Given the description of an element on the screen output the (x, y) to click on. 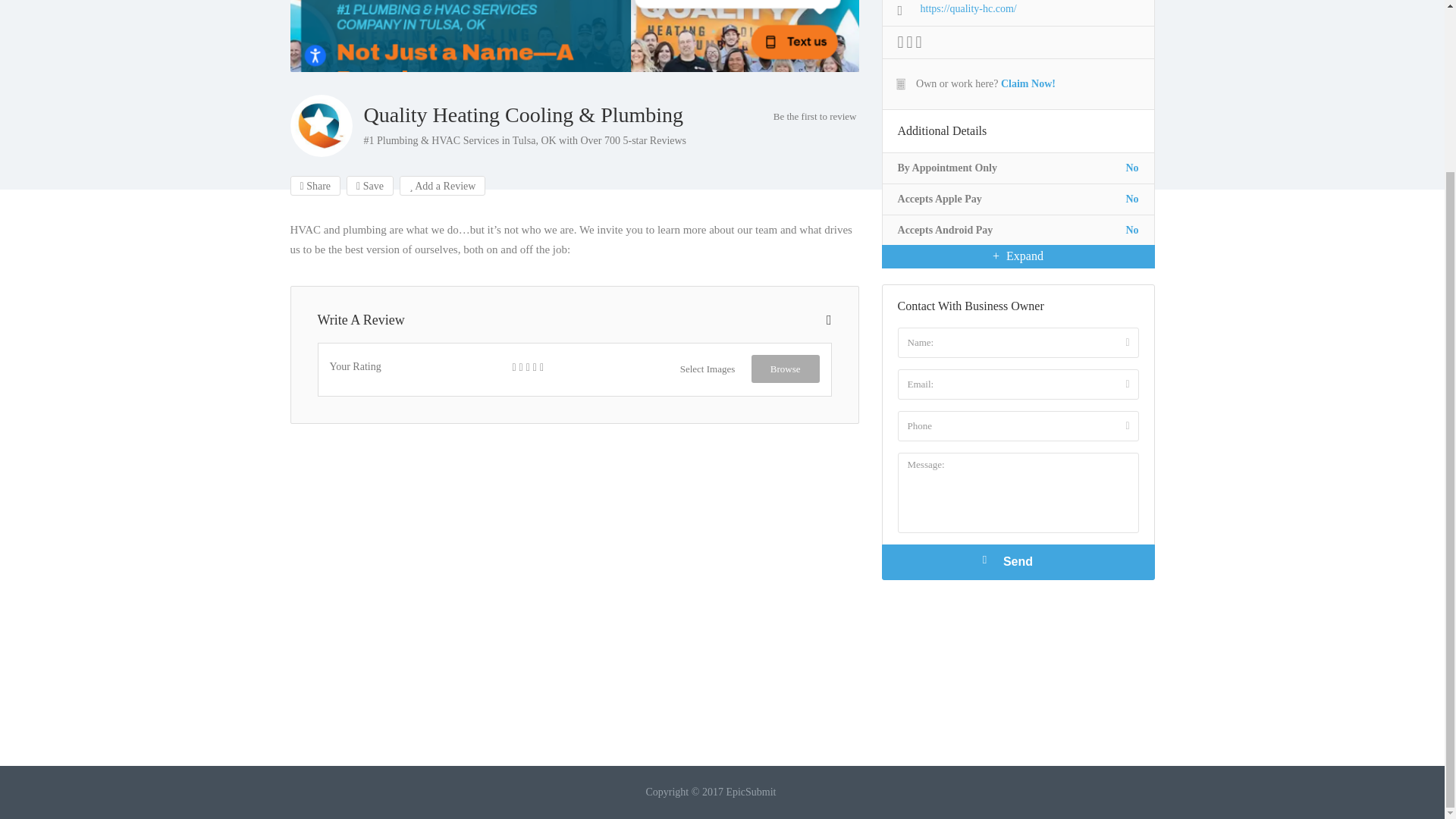
Send (1018, 561)
